Given the description of an element on the screen output the (x, y) to click on. 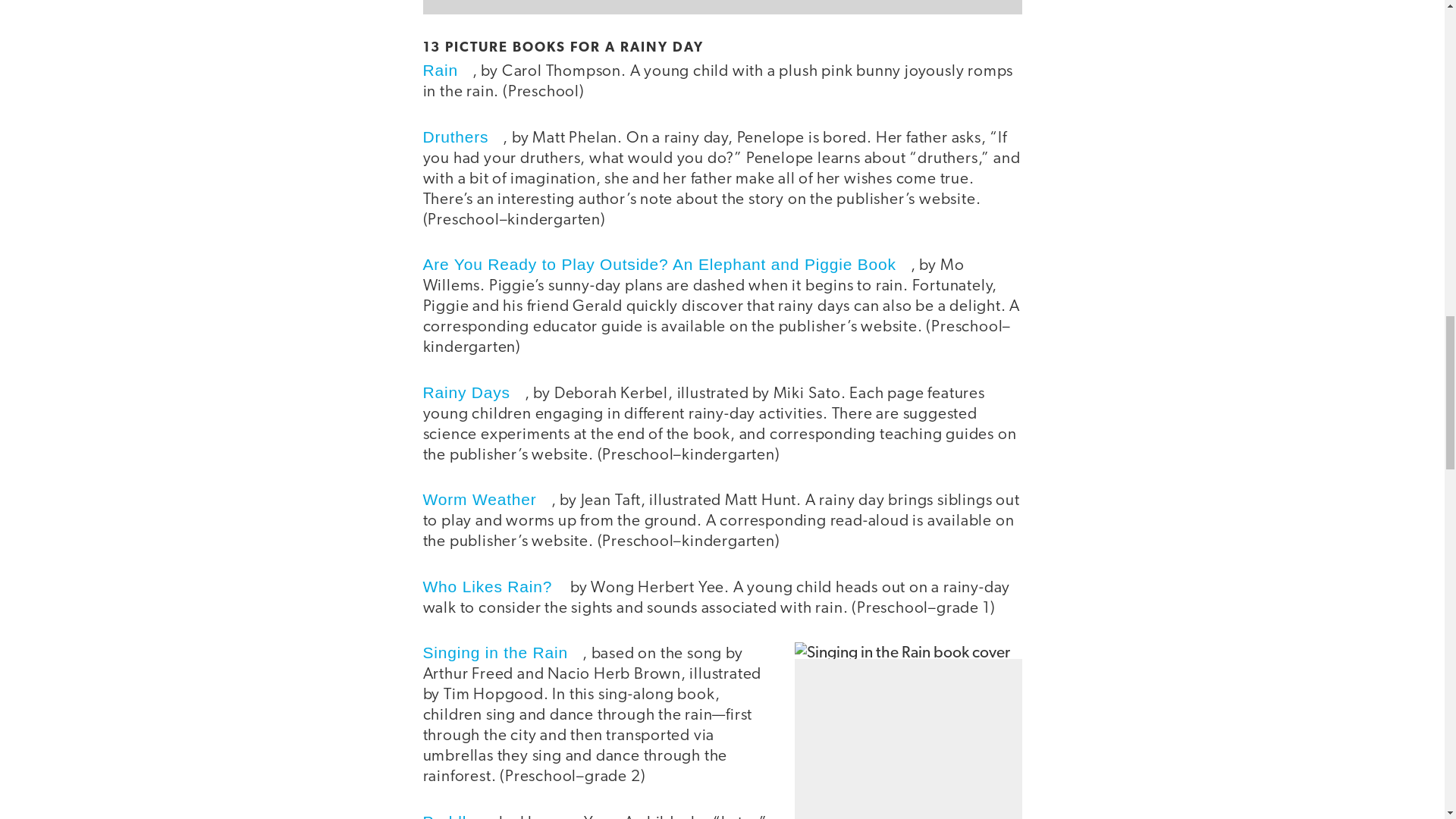
Worm Weather (487, 498)
Are You Ready to Play Outside? An Elephant and Piggie Book (667, 263)
Druthers (463, 136)
Puddle (456, 816)
Who Likes Rain? (495, 586)
Singing in the Rain (503, 651)
Rainy Days (473, 392)
Rain (447, 69)
